Given the description of an element on the screen output the (x, y) to click on. 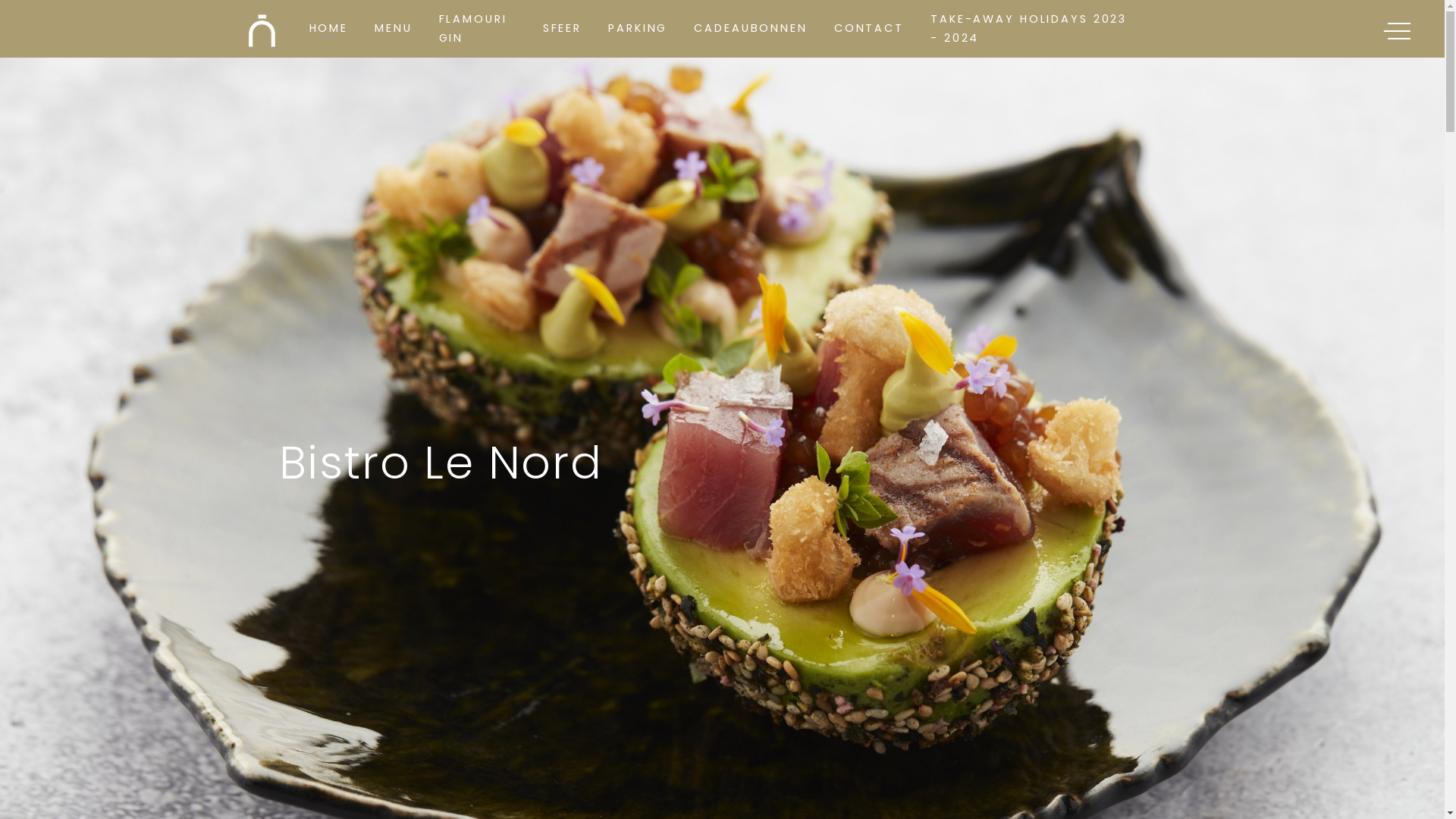
TAKE-AWAY HOLIDAYS 2023 - 2024 Element type: text (1028, 28)
FLAMOURI GIN Element type: text (473, 28)
PARKING Element type: text (637, 28)
MENU Element type: text (393, 28)
CADEAUBONNEN Element type: text (750, 28)
SFEER Element type: text (561, 28)
HOME Element type: text (328, 28)
CONTACT Element type: text (868, 28)
